Given the description of an element on the screen output the (x, y) to click on. 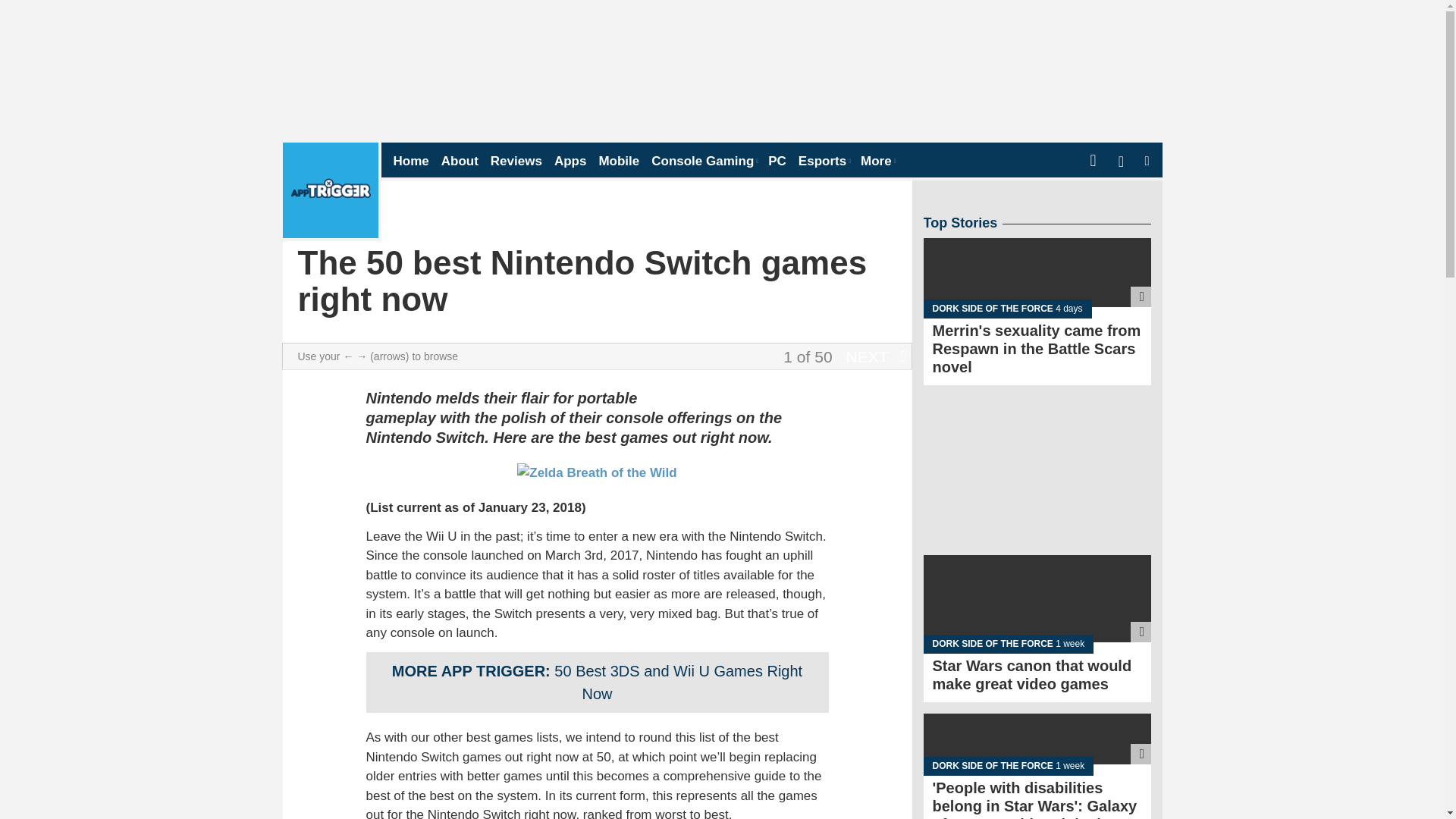
Star Wars canon that would make great video games (1037, 615)
Mobile (618, 160)
Esports (822, 160)
About (460, 160)
Apps (570, 160)
Console Gaming (702, 160)
More (876, 160)
Reviews (515, 160)
